Given the description of an element on the screen output the (x, y) to click on. 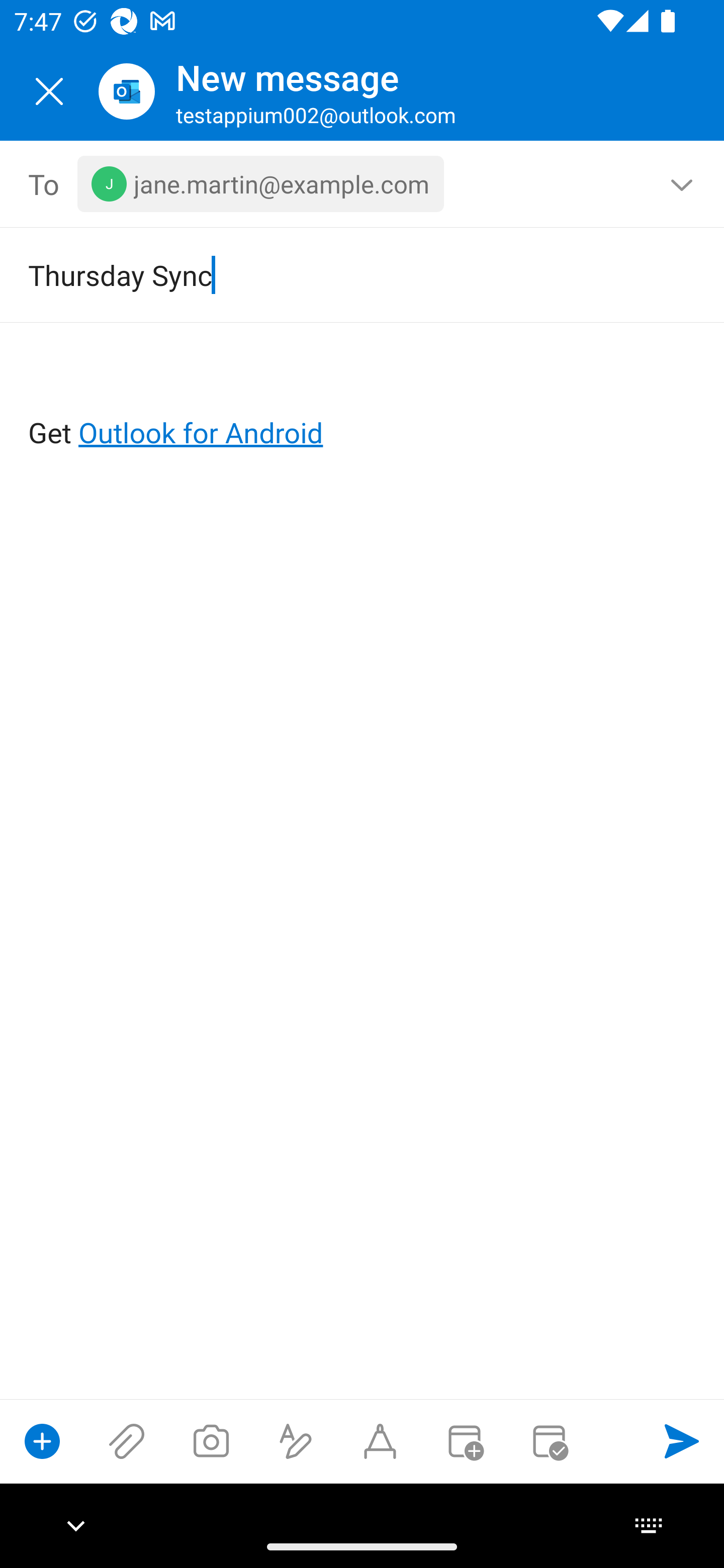
Close (49, 91)
To, 1 recipient <jane.martin@example.com> (362, 184)
Thursday Sync (333, 274)


Get Outlook for Android (363, 400)
Show compose options (42, 1440)
Attach files (126, 1440)
Take a photo (210, 1440)
Show formatting options (295, 1440)
Start Ink compose (380, 1440)
Convert to event (464, 1440)
Send availability (548, 1440)
Send (681, 1440)
